Given the description of an element on the screen output the (x, y) to click on. 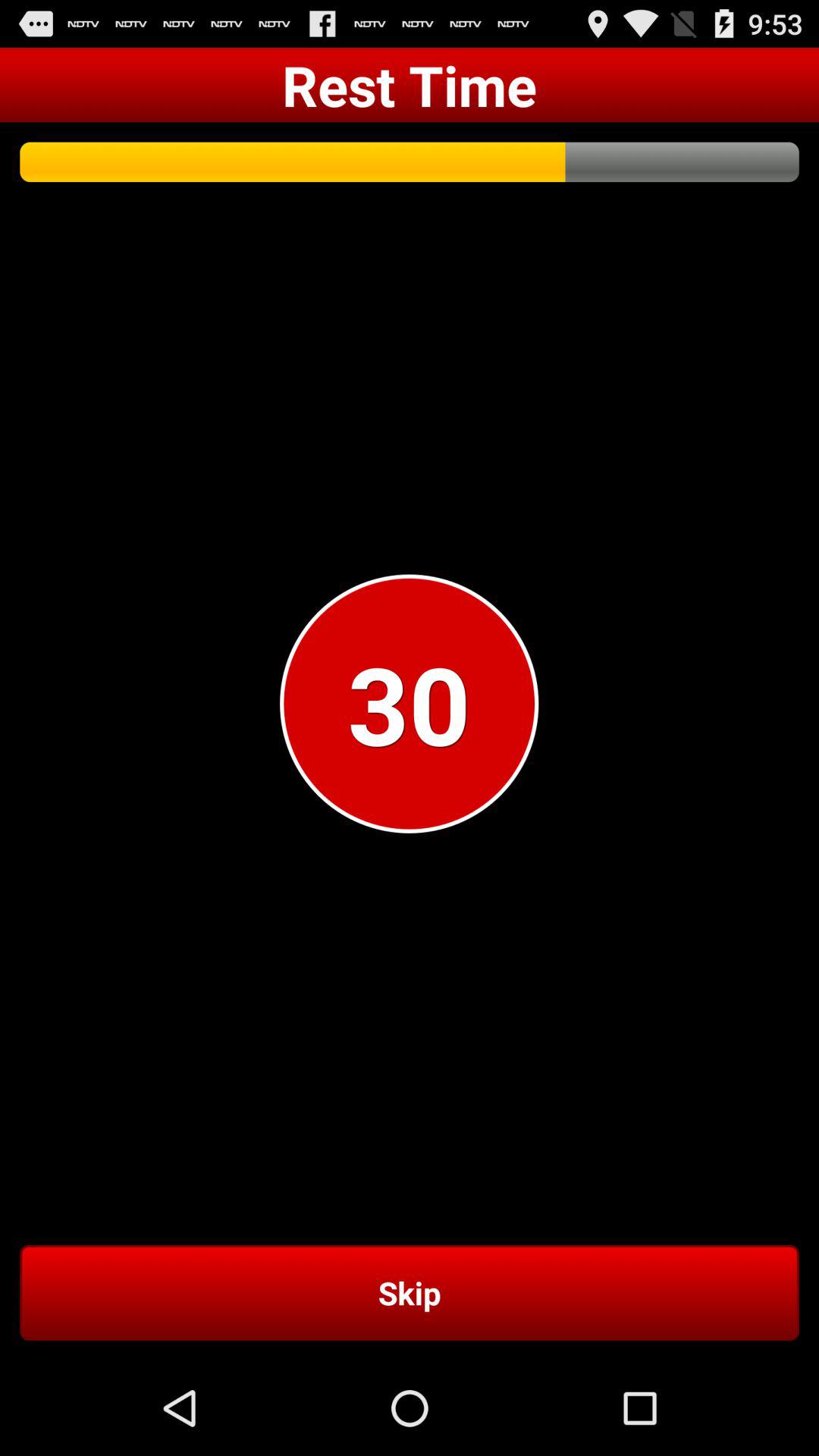
select the skip item (409, 1292)
